Given the description of an element on the screen output the (x, y) to click on. 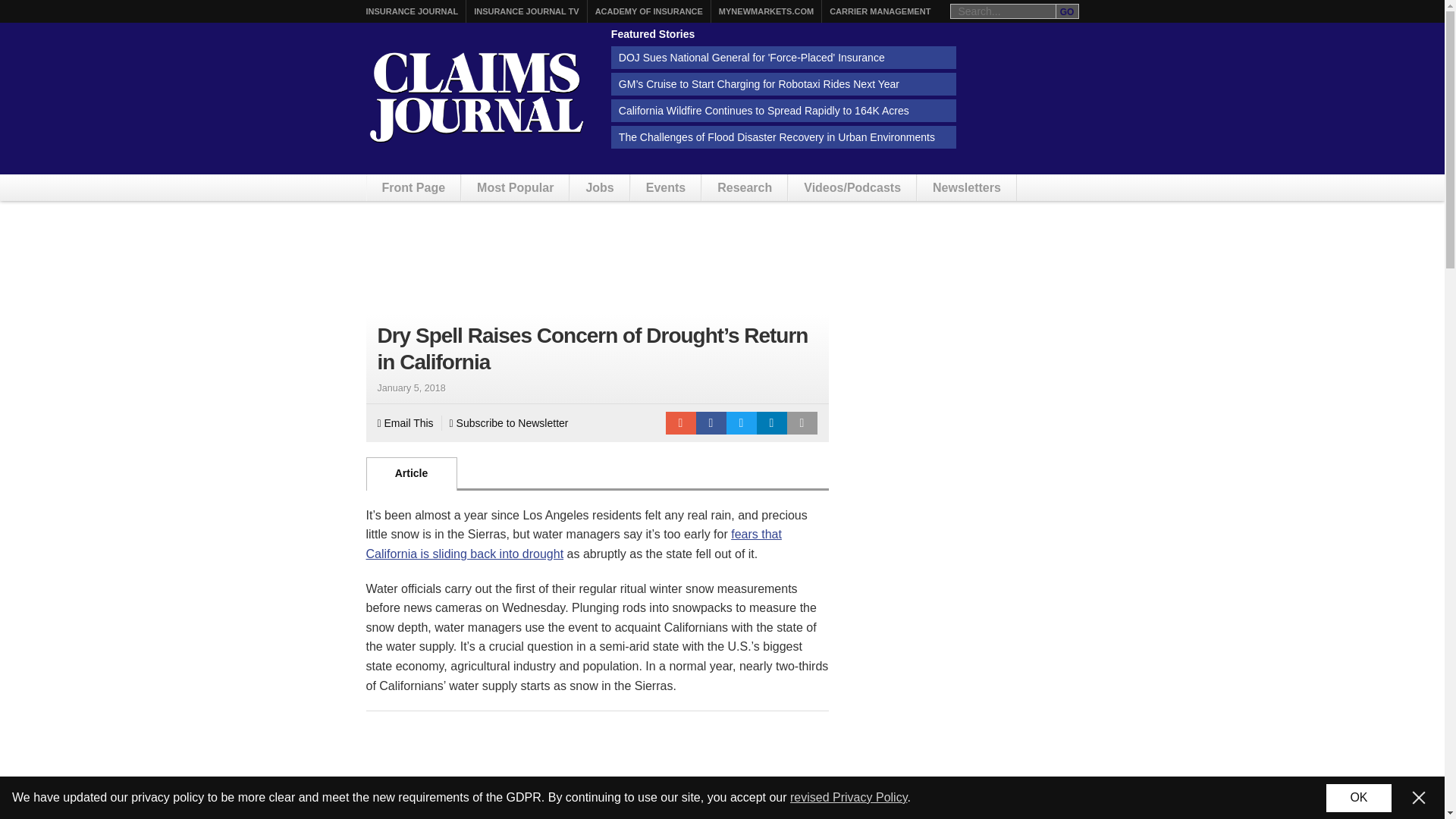
Article (411, 473)
Email to a friend (680, 422)
Jobs (599, 187)
Post to Facebook. (710, 422)
Research (744, 187)
INSURANCE JOURNAL (411, 11)
Go (1066, 11)
ACADEMY OF INSURANCE (649, 11)
Email to a friend (680, 422)
Print Article (801, 422)
Events (665, 187)
LinkedIn (772, 422)
Email This (405, 422)
MYNEWMARKETS.COM (766, 11)
Share on LinkedIn. (772, 422)
